Given the description of an element on the screen output the (x, y) to click on. 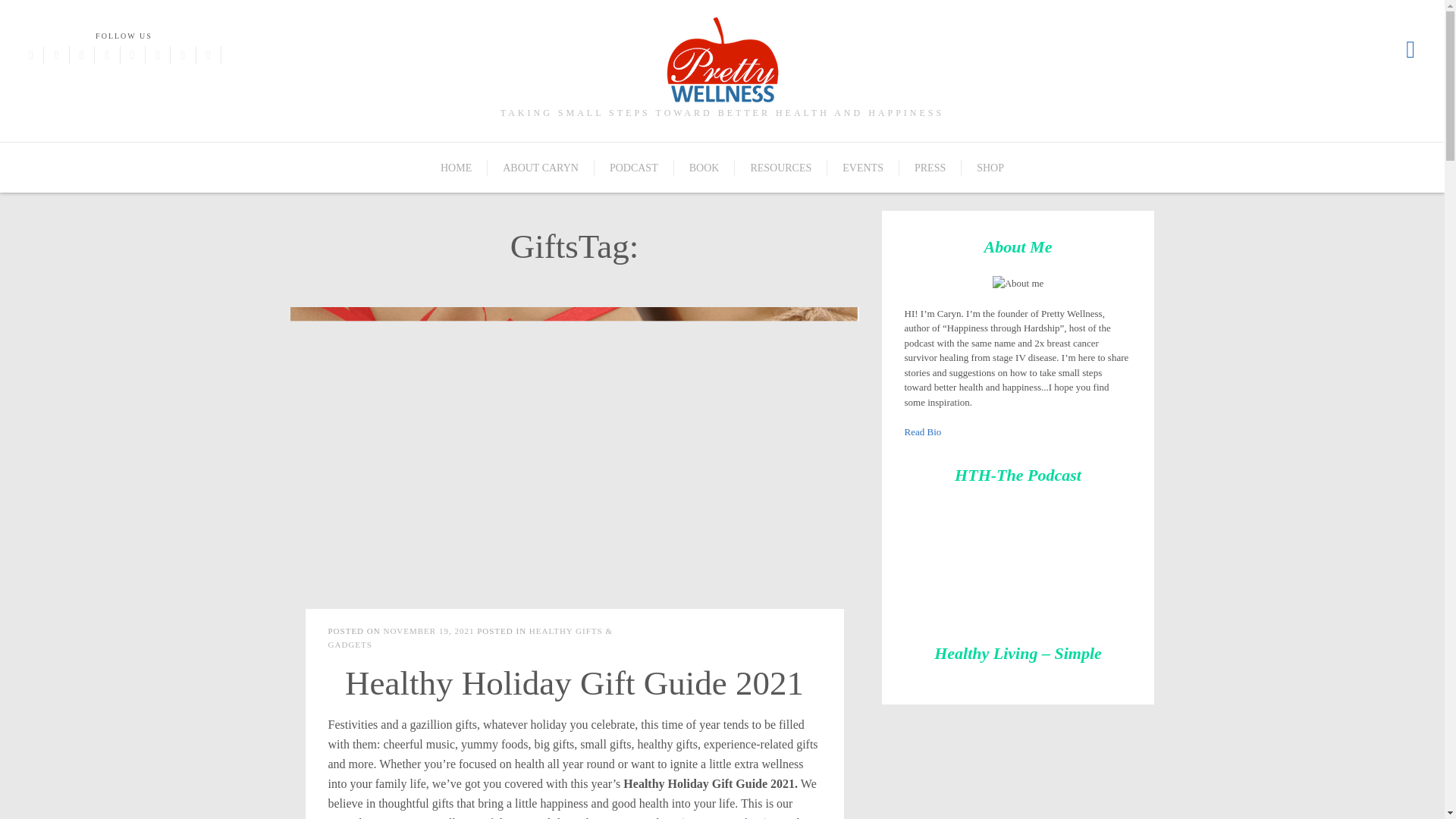
SoundCloud (182, 54)
Facebook (31, 54)
EVENTS (863, 167)
Linkedin (208, 54)
RESOURCES (781, 167)
see our past lists (723, 817)
NOVEMBER 19, 2021 (428, 630)
Healthy Holiday Gift Guide 2021 (574, 682)
Twitter (56, 54)
Pinterest (107, 54)
